Given the description of an element on the screen output the (x, y) to click on. 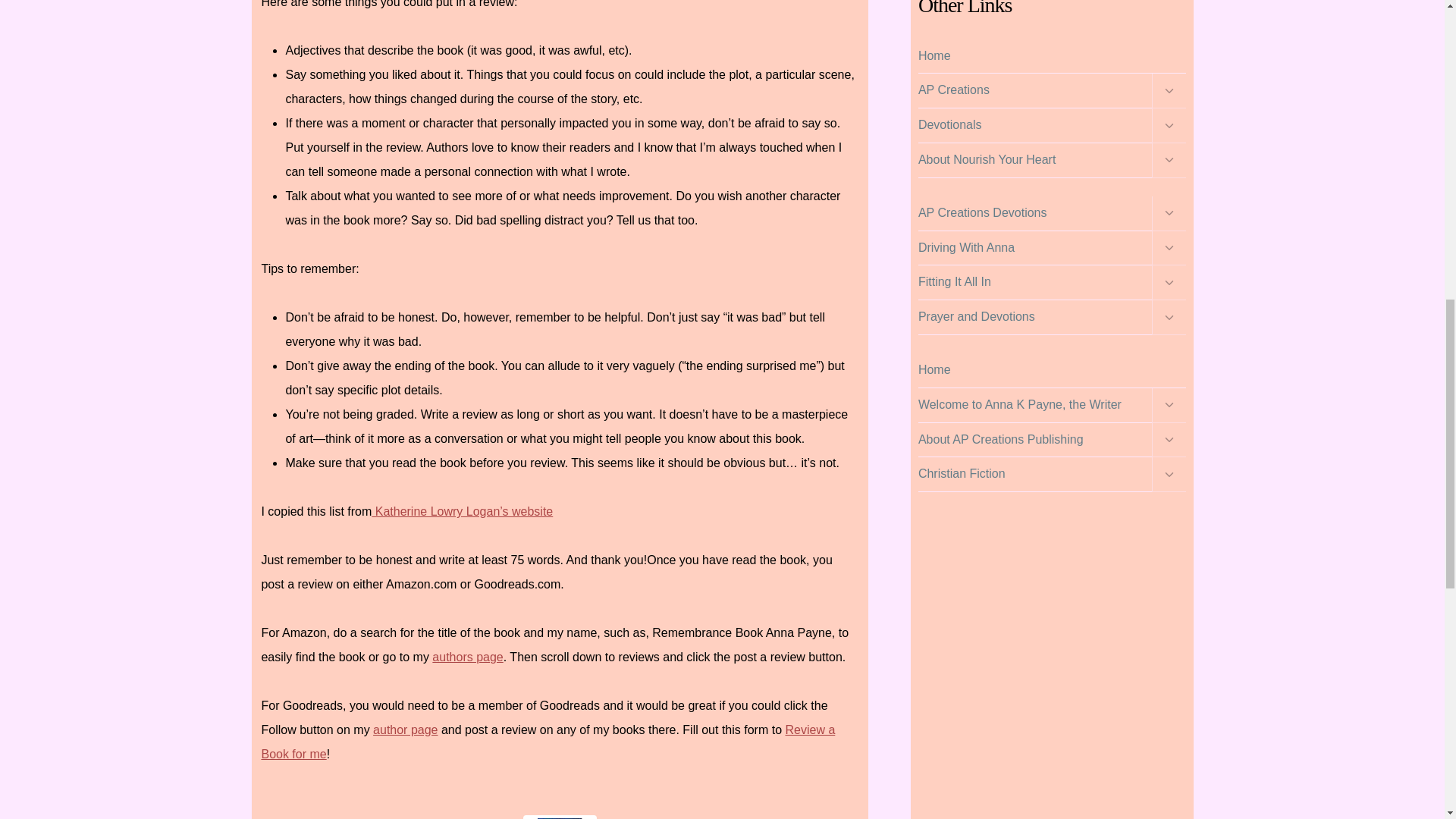
Review a Book for me (547, 741)
authors page (467, 656)
author page (405, 729)
